Given the description of an element on the screen output the (x, y) to click on. 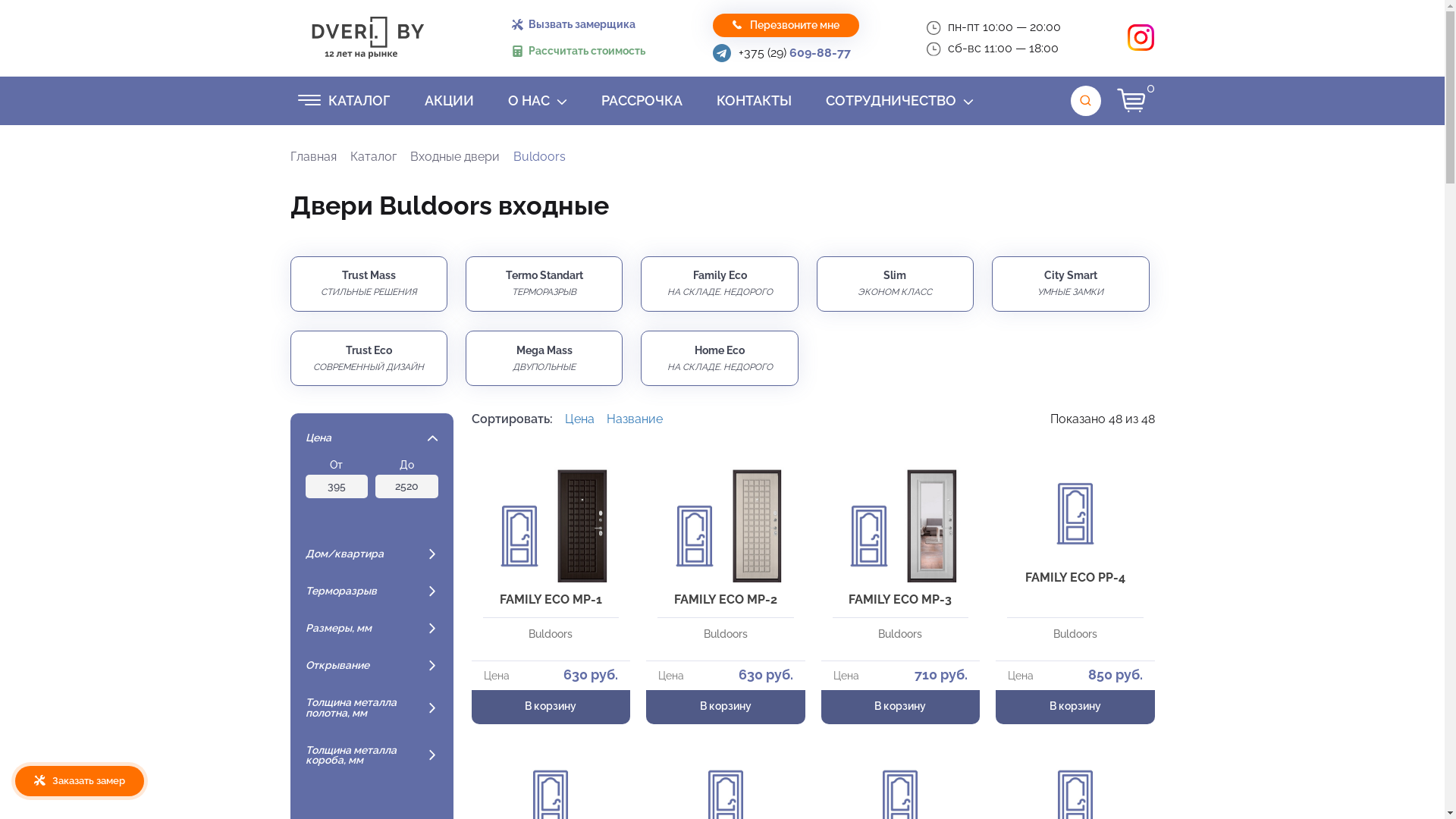
Telegram Element type: hover (721, 52)
Instagram Element type: hover (1140, 37)
FAMILY ECO PP-4 Element type: text (1075, 542)
FAMILY ECO MP-2 Element type: text (725, 542)
0 Element type: text (1135, 100)
FAMILY ECO MP-1 Element type: text (550, 542)
+375 (29) 609-88-77 Element type: text (794, 52)
FAMILY ECO MP-3 Element type: text (900, 542)
